Given the description of an element on the screen output the (x, y) to click on. 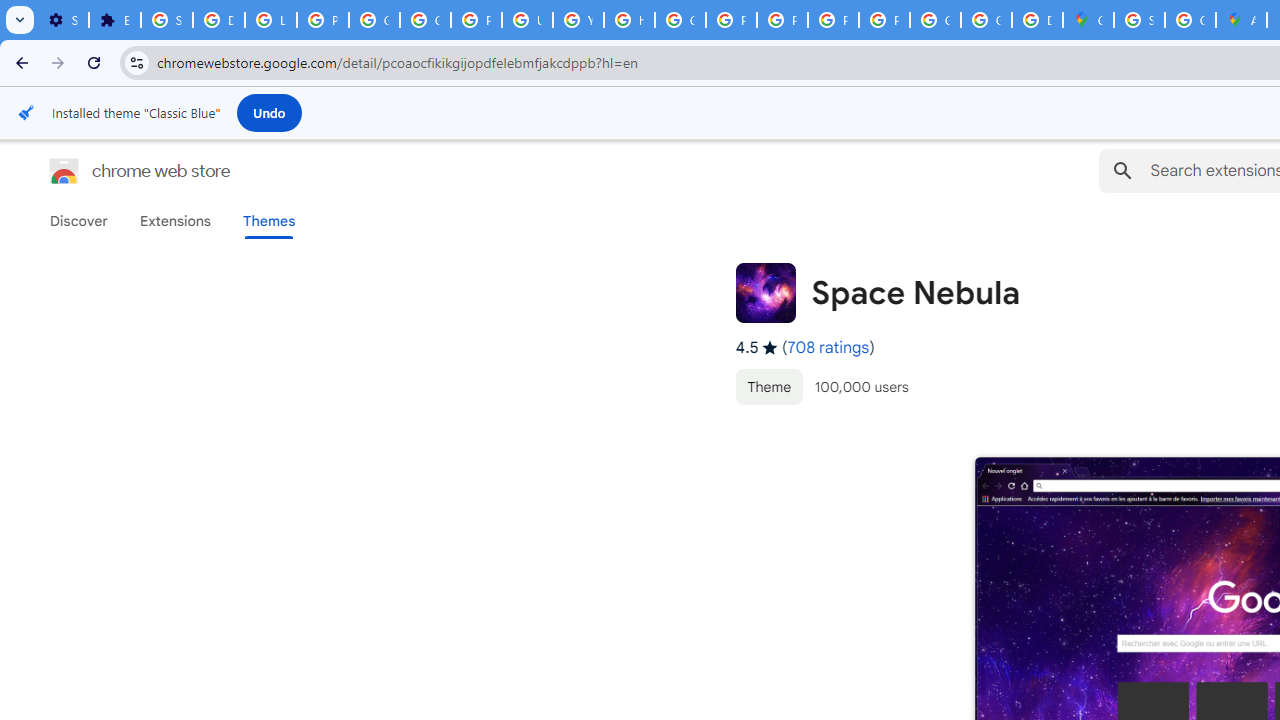
Theme (768, 386)
Create your Google Account (1189, 20)
Sign in - Google Accounts (1138, 20)
Chrome Web Store logo chrome web store (118, 170)
